Given the description of an element on the screen output the (x, y) to click on. 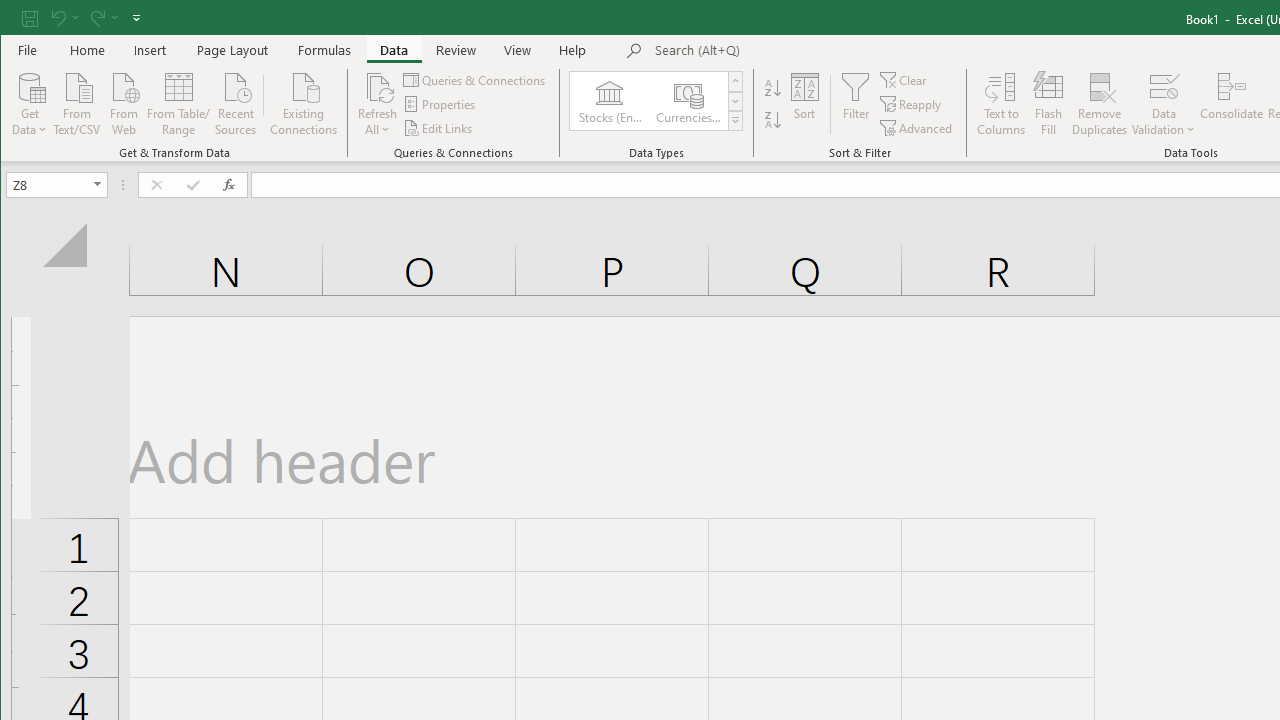
Consolidate... (1231, 104)
Clear (904, 80)
Help (573, 50)
Reapply (912, 103)
View (518, 50)
Sort... (804, 104)
Customize Quick Access Toolbar (136, 17)
Recent Sources (235, 101)
Refresh All (377, 86)
